Given the description of an element on the screen output the (x, y) to click on. 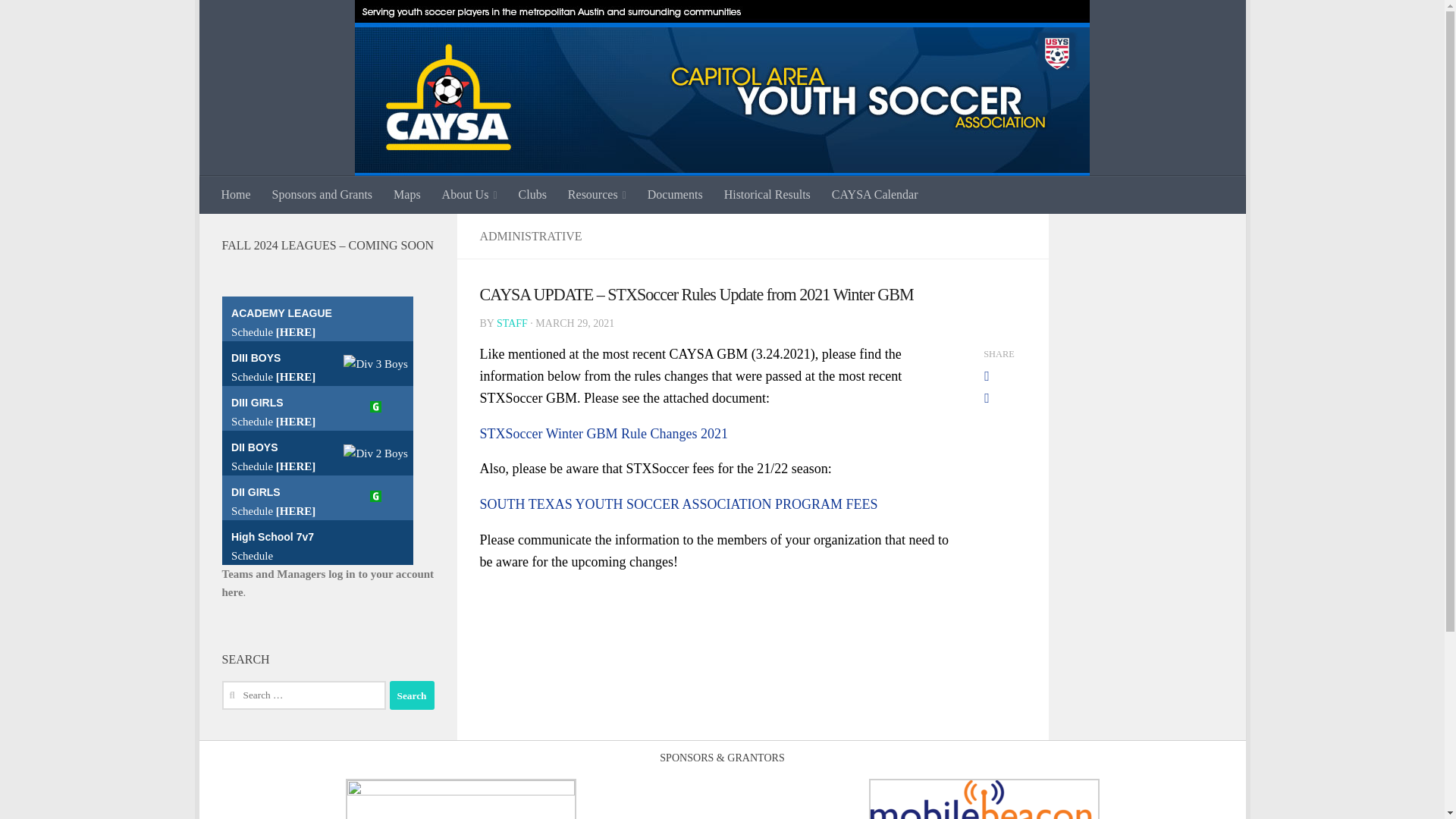
STAFF (511, 323)
Historical Results (767, 194)
Skip to content (258, 20)
Sponsors and Grants (322, 194)
About Us (469, 194)
Resources (597, 194)
Clubs (532, 194)
Search (411, 695)
Home (236, 194)
Documents (675, 194)
ADMINISTRATIVE (529, 236)
Search (411, 695)
Maps (406, 194)
CAYSA Calendar (874, 194)
Posts by Staff (511, 323)
